Given the description of an element on the screen output the (x, y) to click on. 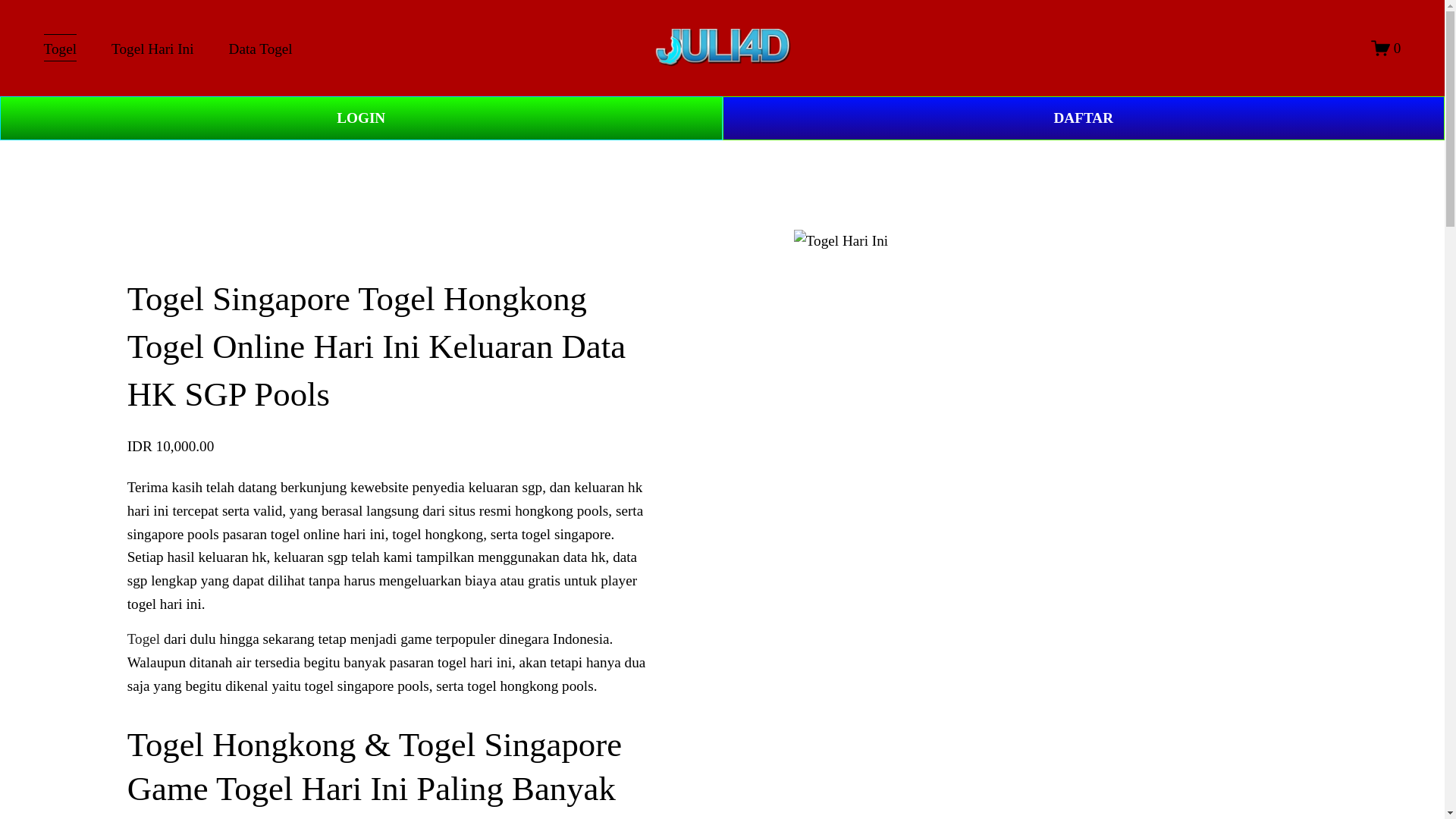
Togel (144, 638)
0 (1385, 47)
Togel Hari Ini (152, 49)
Data Togel (260, 49)
Togel (60, 49)
LOGIN (361, 118)
